Given the description of an element on the screen output the (x, y) to click on. 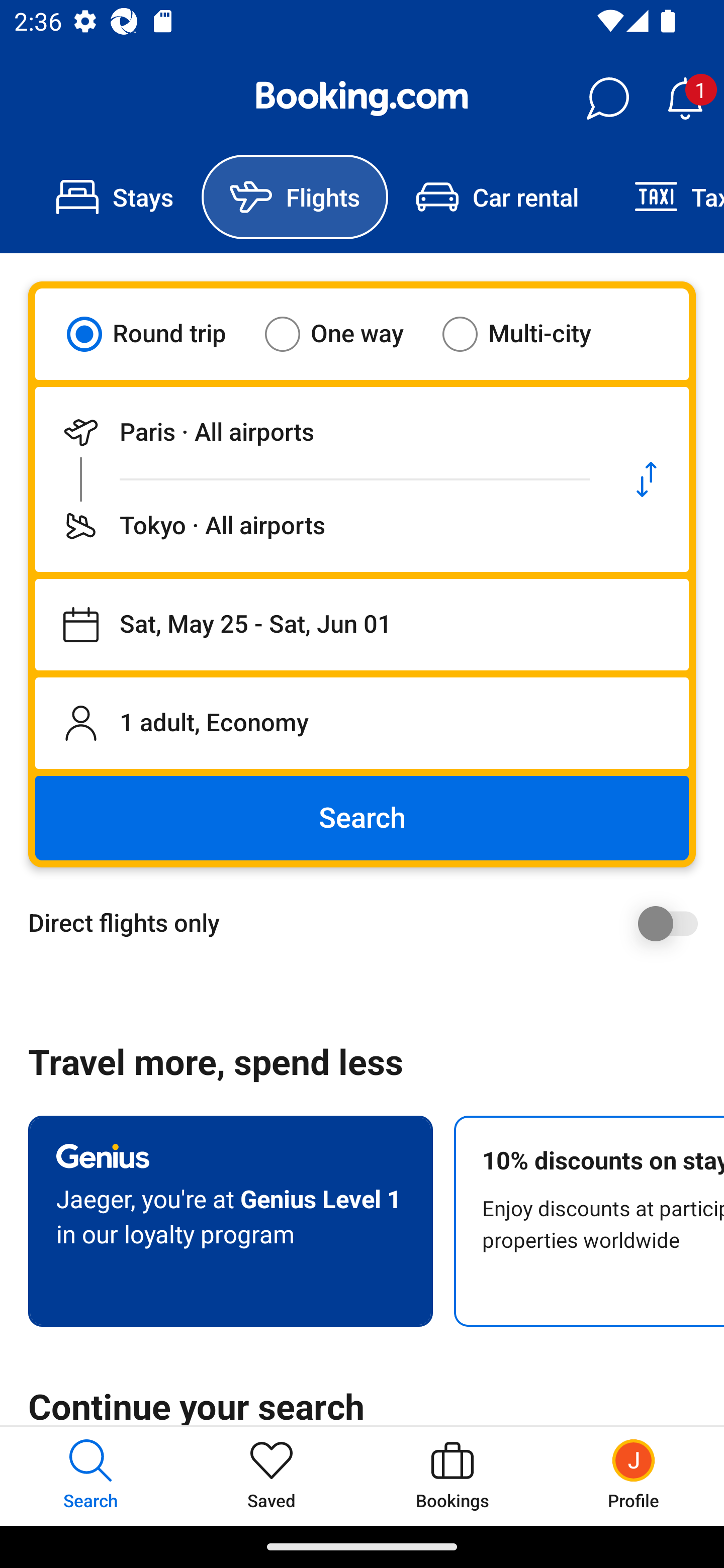
Messages (607, 98)
Notifications (685, 98)
Stays (114, 197)
Flights (294, 197)
Car rental (497, 197)
Taxi (665, 197)
One way (346, 333)
Multi-city (528, 333)
Departing from Paris · All airports (319, 432)
Swap departure location and destination (646, 479)
Flying to Tokyo · All airports (319, 525)
Departing on Sat, May 25, returning on Sat, Jun 01 (361, 624)
1 adult, Economy (361, 722)
Search (361, 818)
Direct flights only (369, 923)
Saved (271, 1475)
Bookings (452, 1475)
Profile (633, 1475)
